Given the description of an element on the screen output the (x, y) to click on. 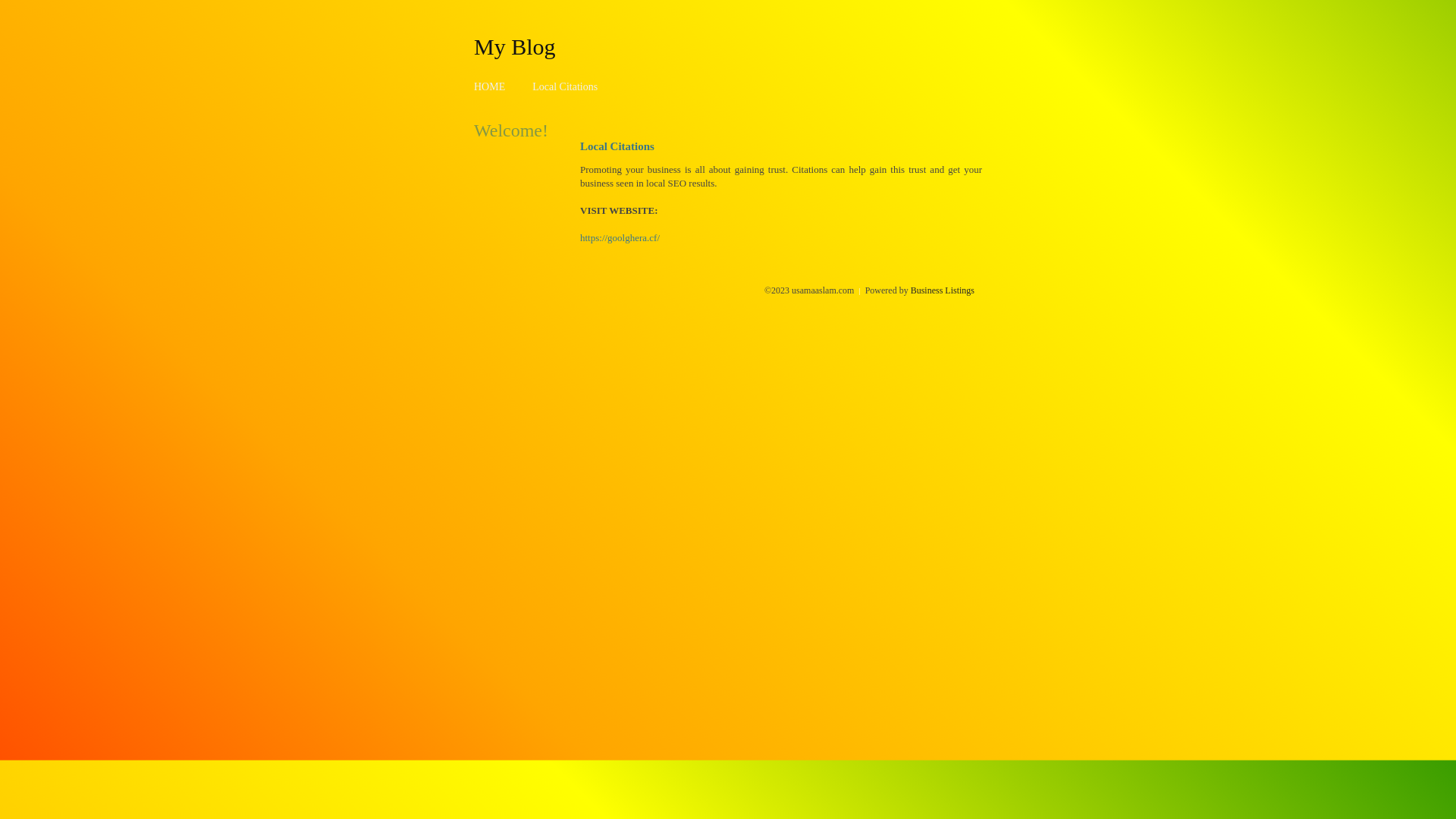
My Blog Element type: text (514, 46)
https://goolghera.cf/ Element type: text (619, 237)
Business Listings Element type: text (942, 290)
HOME Element type: text (489, 86)
Local Citations Element type: text (564, 86)
